Given the description of an element on the screen output the (x, y) to click on. 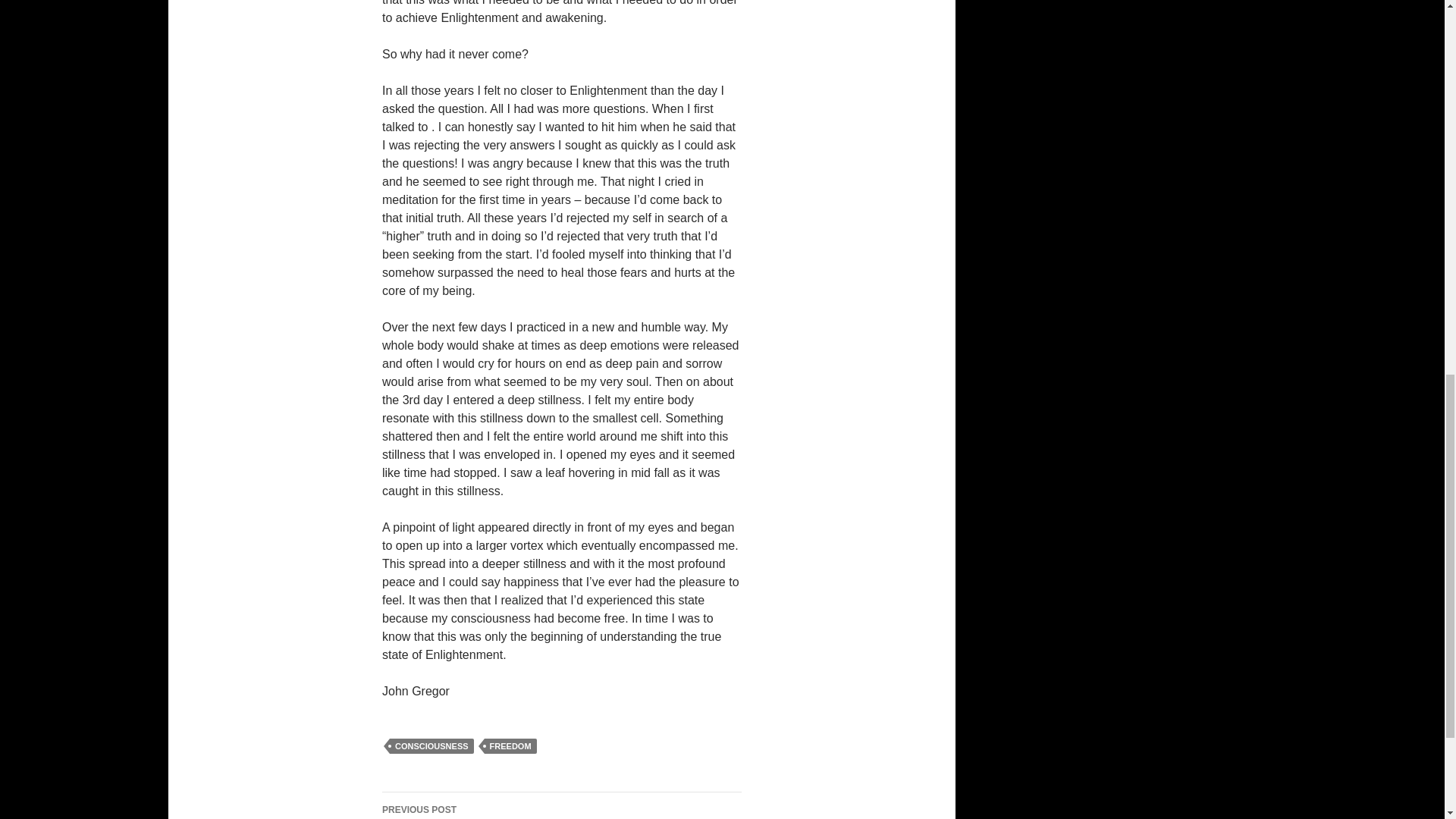
CONSCIOUSNESS (432, 745)
FREEDOM (510, 745)
